Given the description of an element on the screen output the (x, y) to click on. 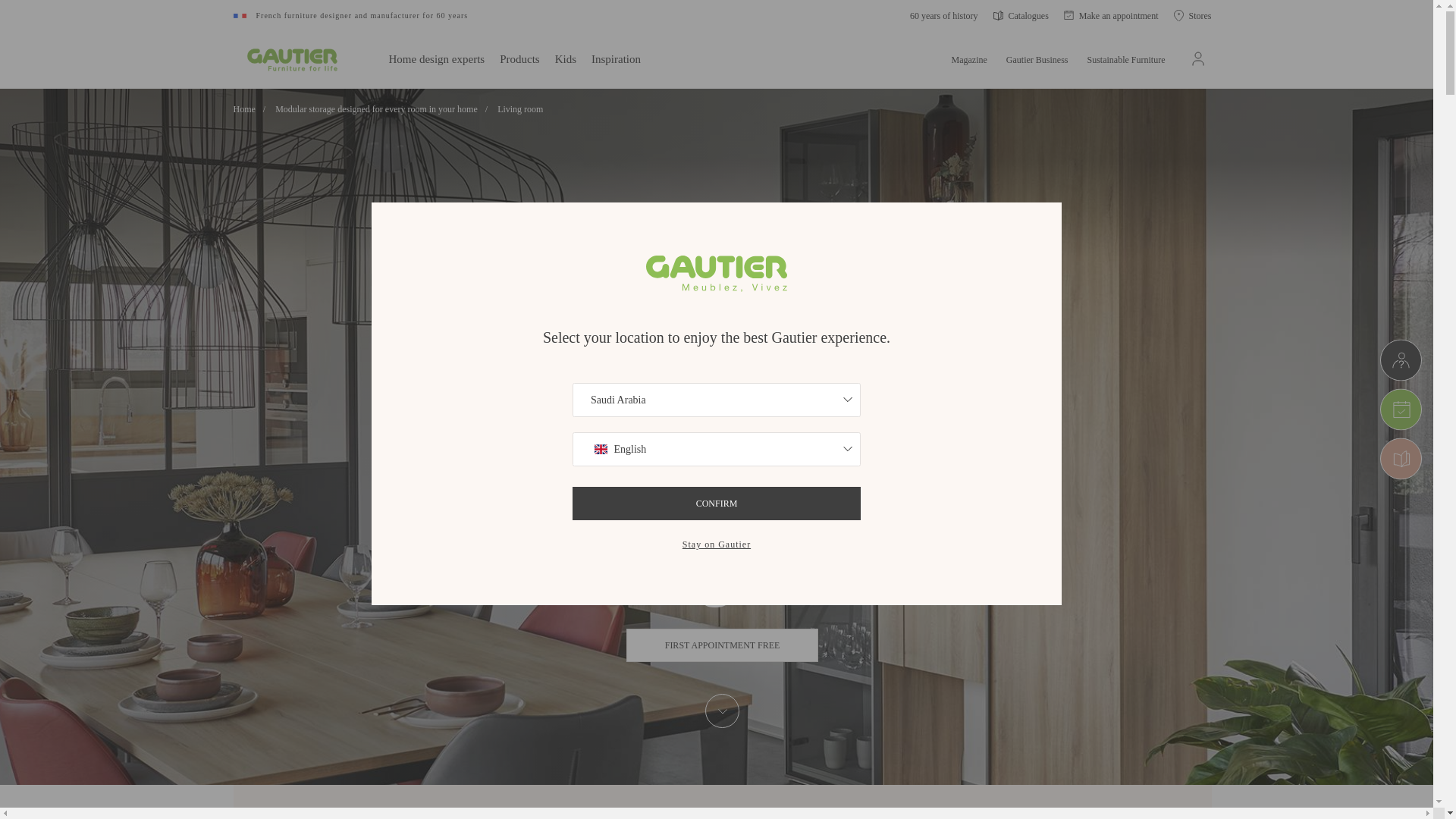
Home design experts (436, 57)
Catalogues (1020, 15)
Sustainable Furniture (1126, 57)
Make an appointment (1111, 15)
Stores (1192, 15)
Account (1198, 57)
Gautier Business (1037, 57)
